Given the description of an element on the screen output the (x, y) to click on. 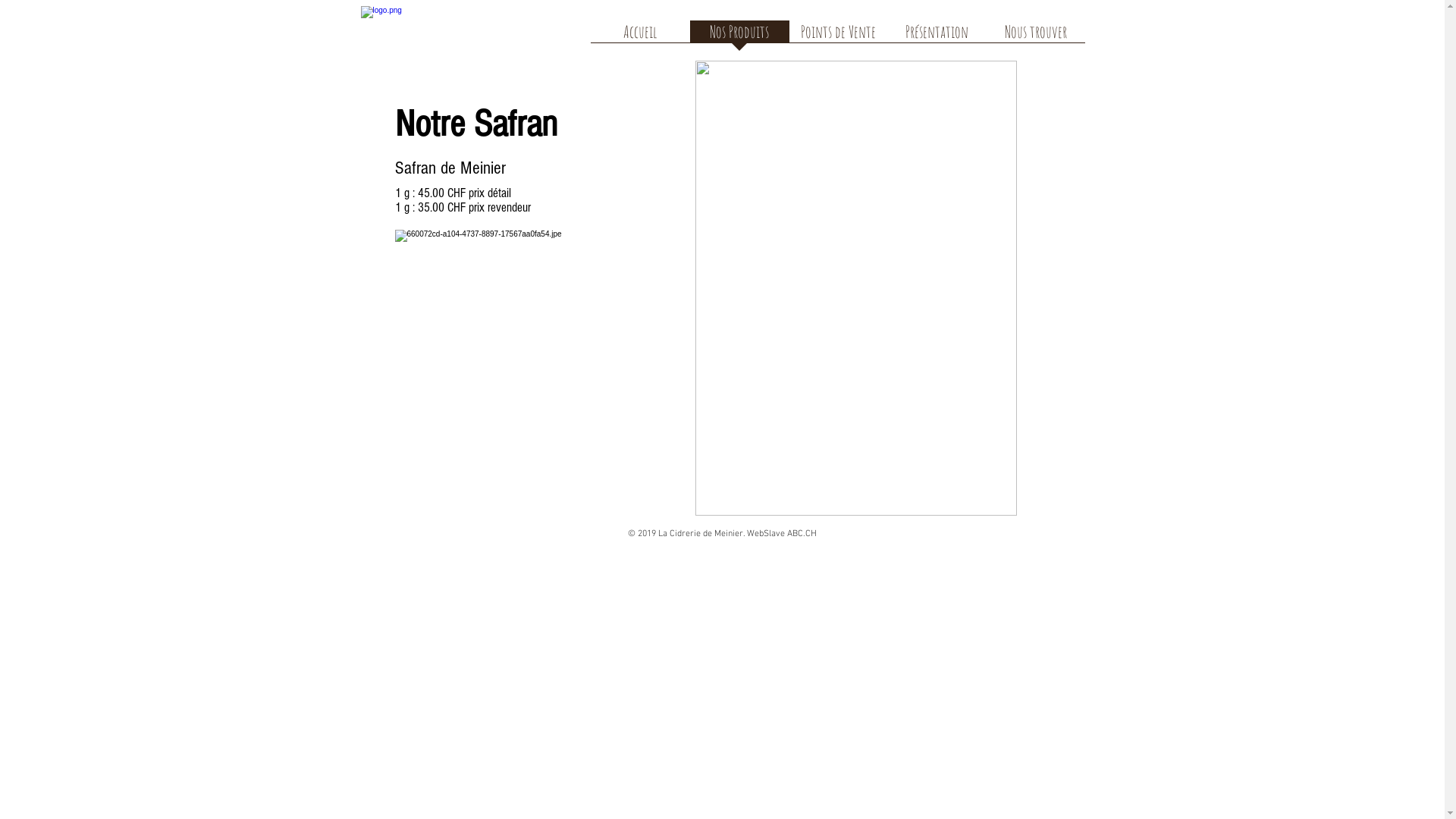
Nos Produits Element type: text (739, 36)
Points de Vente Element type: text (837, 36)
Accueil Element type: text (639, 36)
safran mail.jpg Element type: hover (855, 287)
Nous trouver Element type: text (1034, 36)
